Given the description of an element on the screen output the (x, y) to click on. 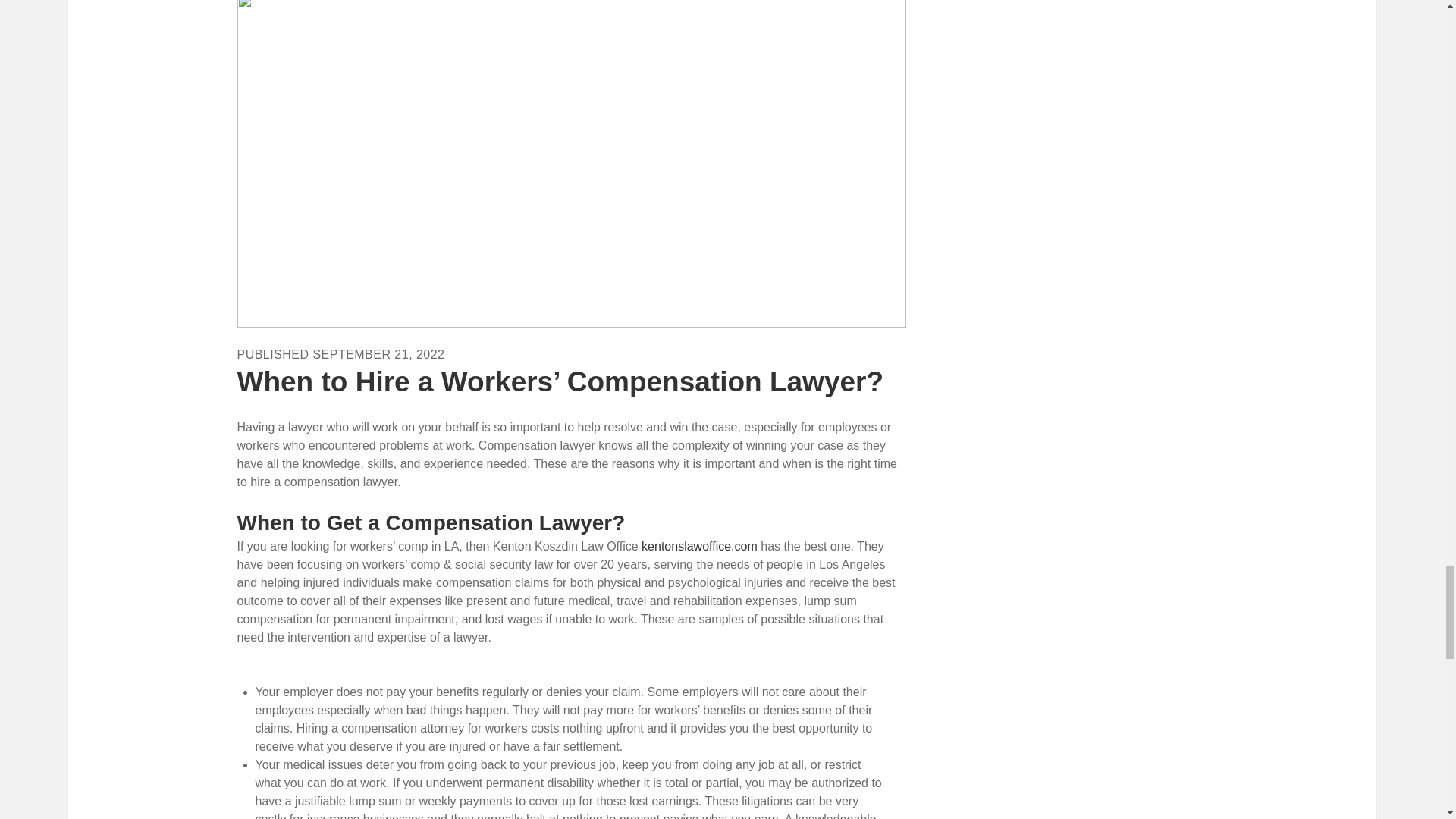
kentonslawoffice.com (699, 545)
